Given the description of an element on the screen output the (x, y) to click on. 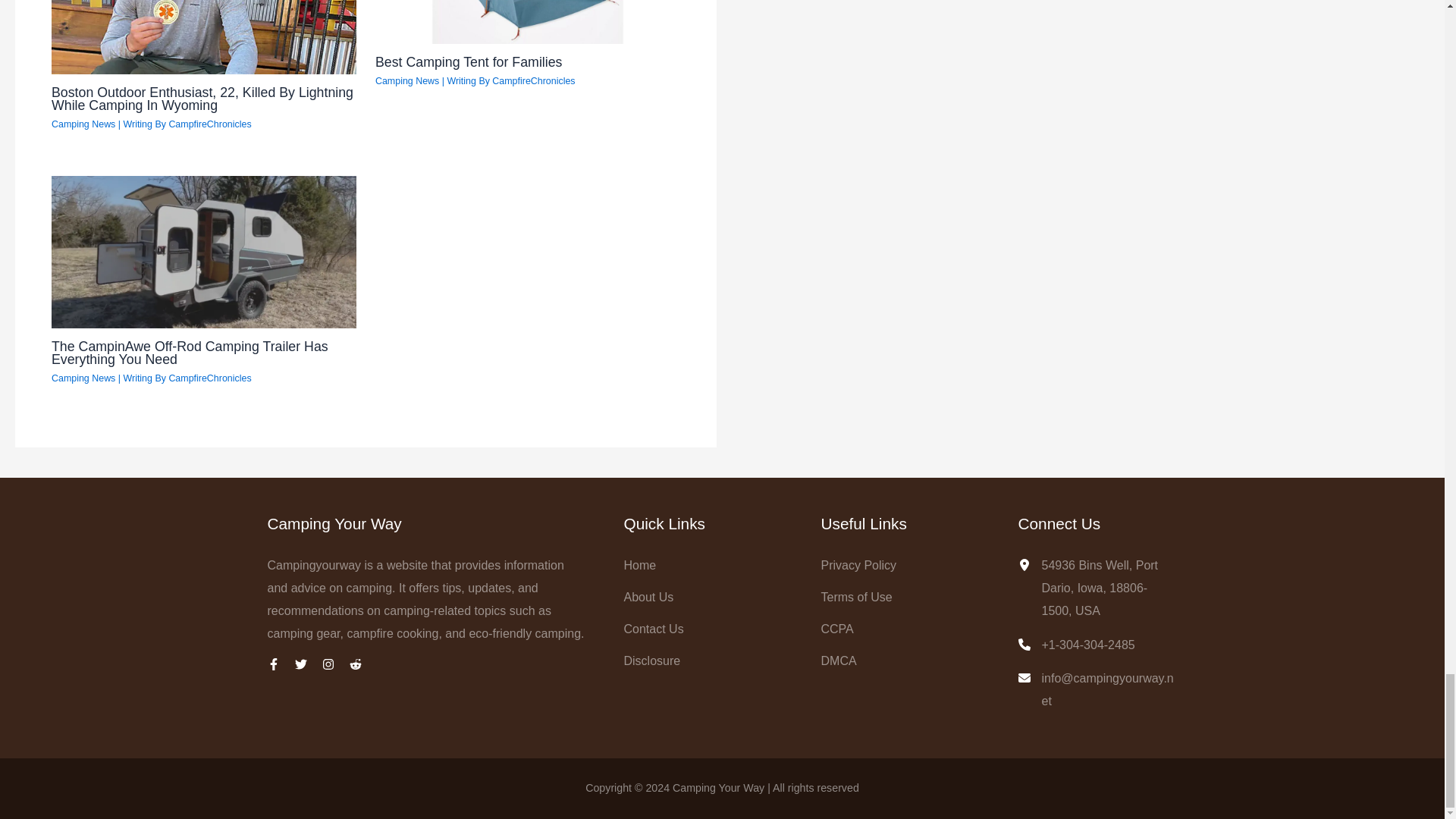
View all posts by CampfireChronicles (533, 81)
View all posts by CampfireChronicles (209, 378)
View all posts by CampfireChronicles (209, 123)
